Given the description of an element on the screen output the (x, y) to click on. 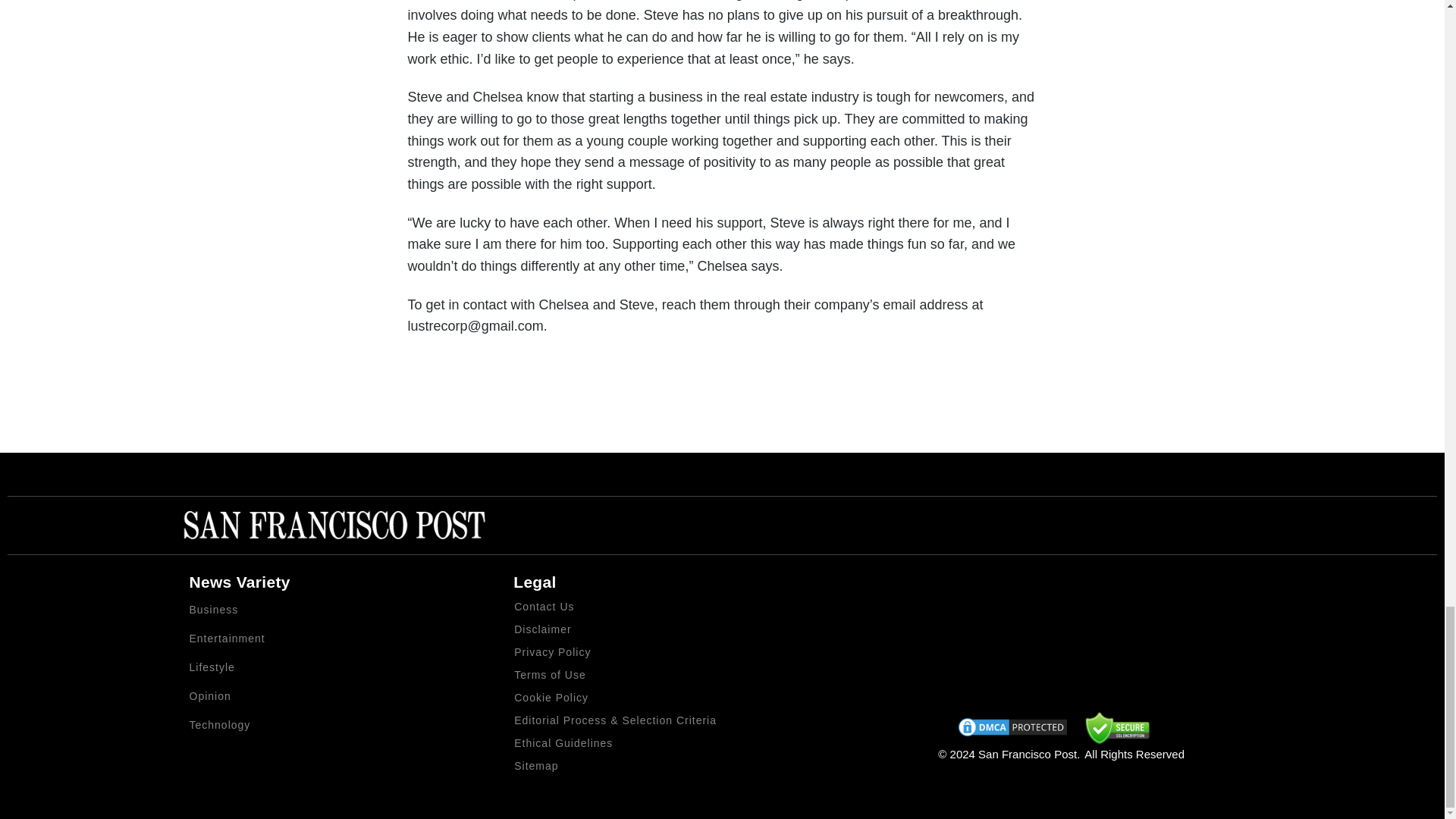
DMCA.com Protection Status (1012, 730)
